Given the description of an element on the screen output the (x, y) to click on. 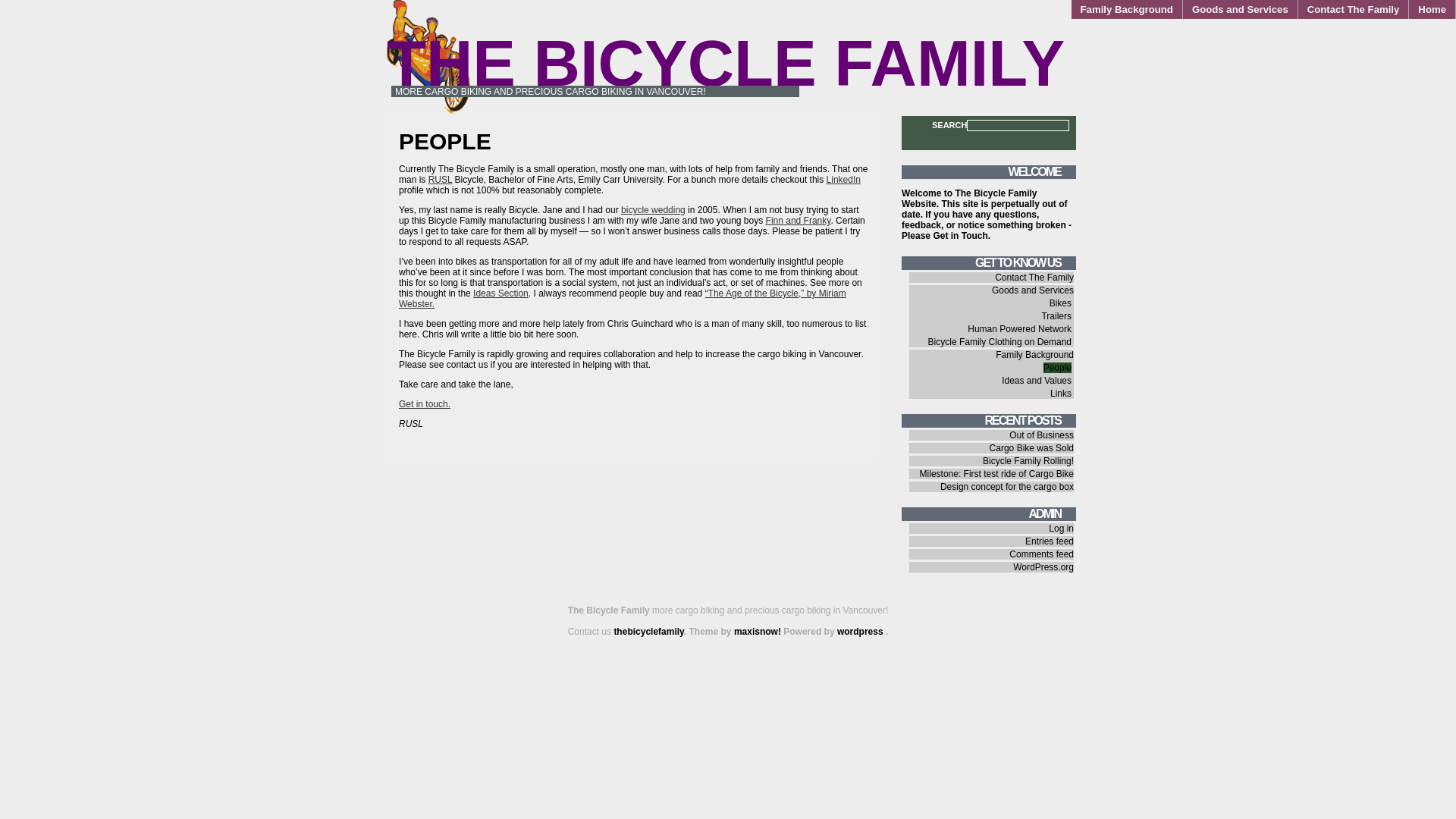
Bikes Element type: text (1060, 303)
LinkedIn Element type: text (843, 179)
Family Background Element type: text (1126, 9)
Trailers Element type: text (1056, 315)
Finn and Franky Element type: text (798, 220)
Family Background Element type: text (1034, 354)
Home Element type: text (1431, 9)
Entries feed Element type: text (1049, 541)
Goods and Services Element type: text (1240, 9)
Goods and Services Element type: text (1032, 290)
Log in Element type: text (1060, 528)
Comments feed Element type: text (1041, 554)
WordPress.org Element type: text (1043, 566)
thebicyclefamily Element type: text (648, 631)
wordpress Element type: text (861, 631)
Bicycle Family Rolling! Element type: text (1027, 460)
THE BICYCLE FAMILY Element type: text (725, 63)
bicycle wedding Element type: text (653, 209)
Ideas and Values Element type: text (1036, 380)
Bicycle Family Clothing on Demand Element type: text (999, 341)
Get in touch. Element type: text (424, 403)
Cargo Bike was Sold Element type: text (1031, 447)
Milestone: First test ride of Cargo Bike Element type: text (996, 473)
Contact The Family Element type: text (1033, 277)
People Element type: text (1057, 367)
Ideas Section Element type: text (500, 293)
Out of Business Element type: text (1041, 434)
RUSL Element type: text (440, 179)
Contact The Family Element type: text (1353, 9)
maxisnow! Element type: text (757, 631)
Design concept for the cargo box Element type: text (1006, 486)
Links Element type: text (1060, 393)
Search Element type: text (21, 7)
Get in Touch Element type: text (959, 235)
Human Powered Network Element type: text (1019, 328)
